Given the description of an element on the screen output the (x, y) to click on. 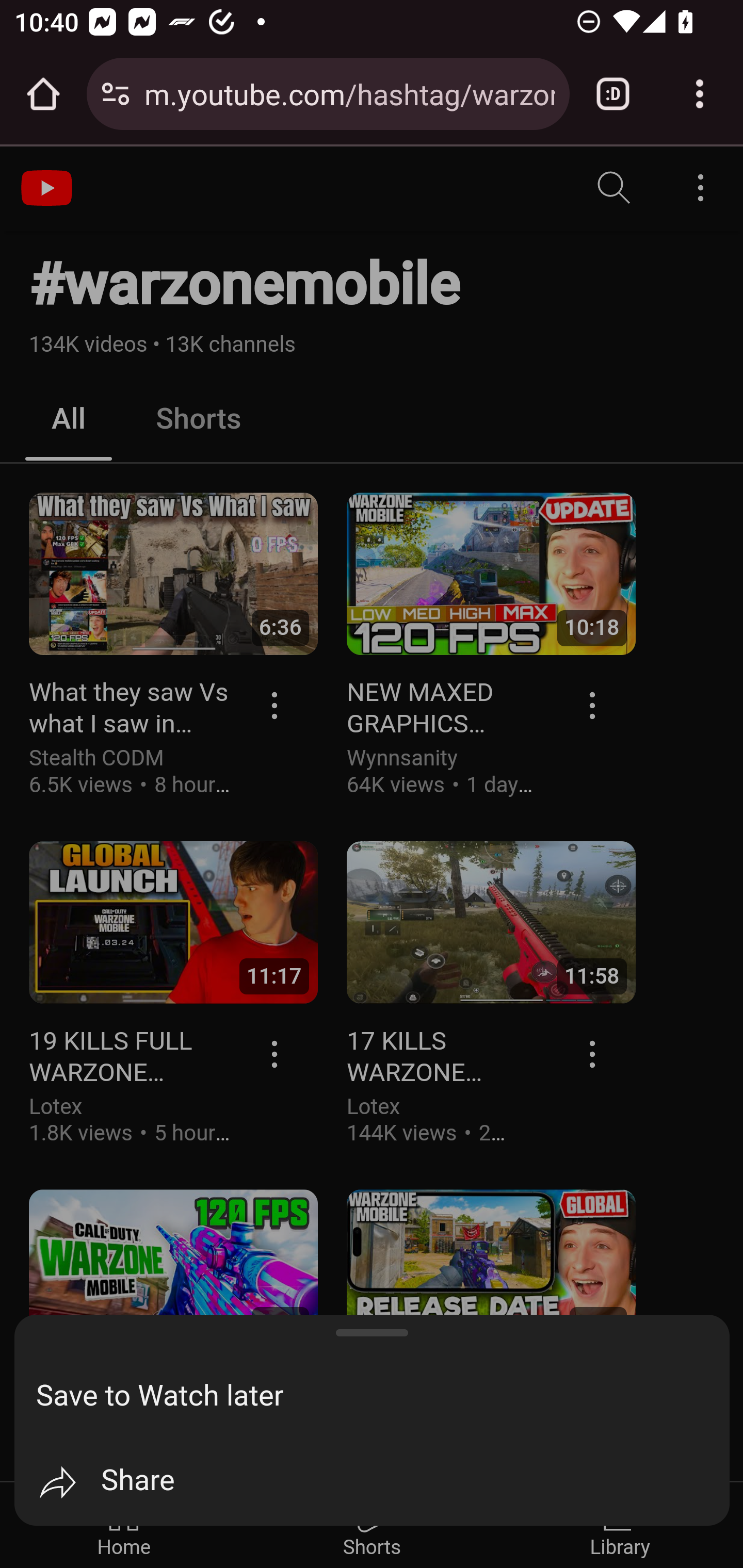
Open the home page (43, 93)
Connection is secure (115, 93)
Switch or close tabs (612, 93)
Customize and control Google Chrome (699, 93)
m.youtube.com/hashtag/warzonemobile#bottom-sheet (349, 92)
Save to Watch later (383, 1396)
Share (383, 1482)
